Given the description of an element on the screen output the (x, y) to click on. 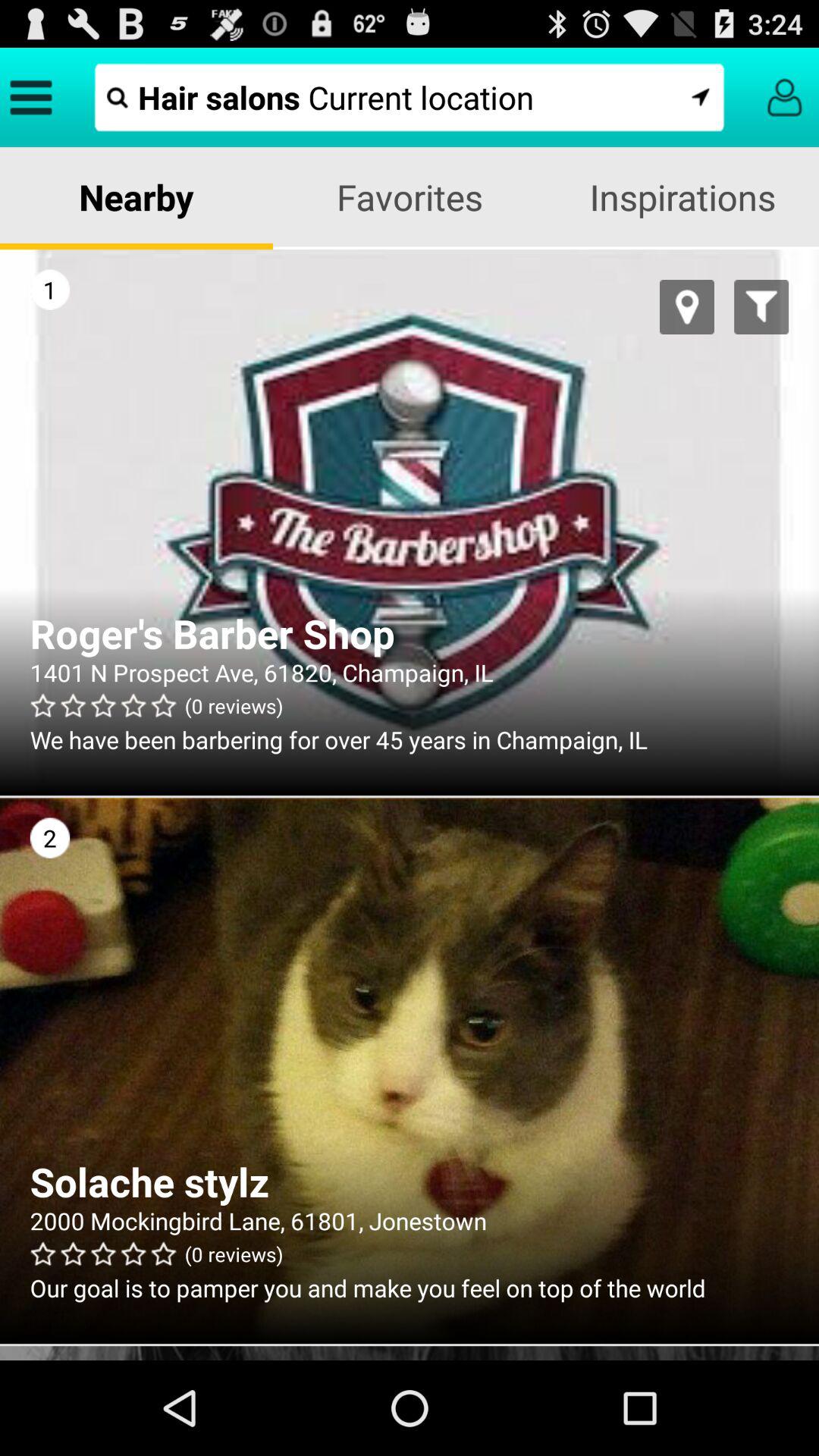
click item next to favorites item (682, 196)
